Given the description of an element on the screen output the (x, y) to click on. 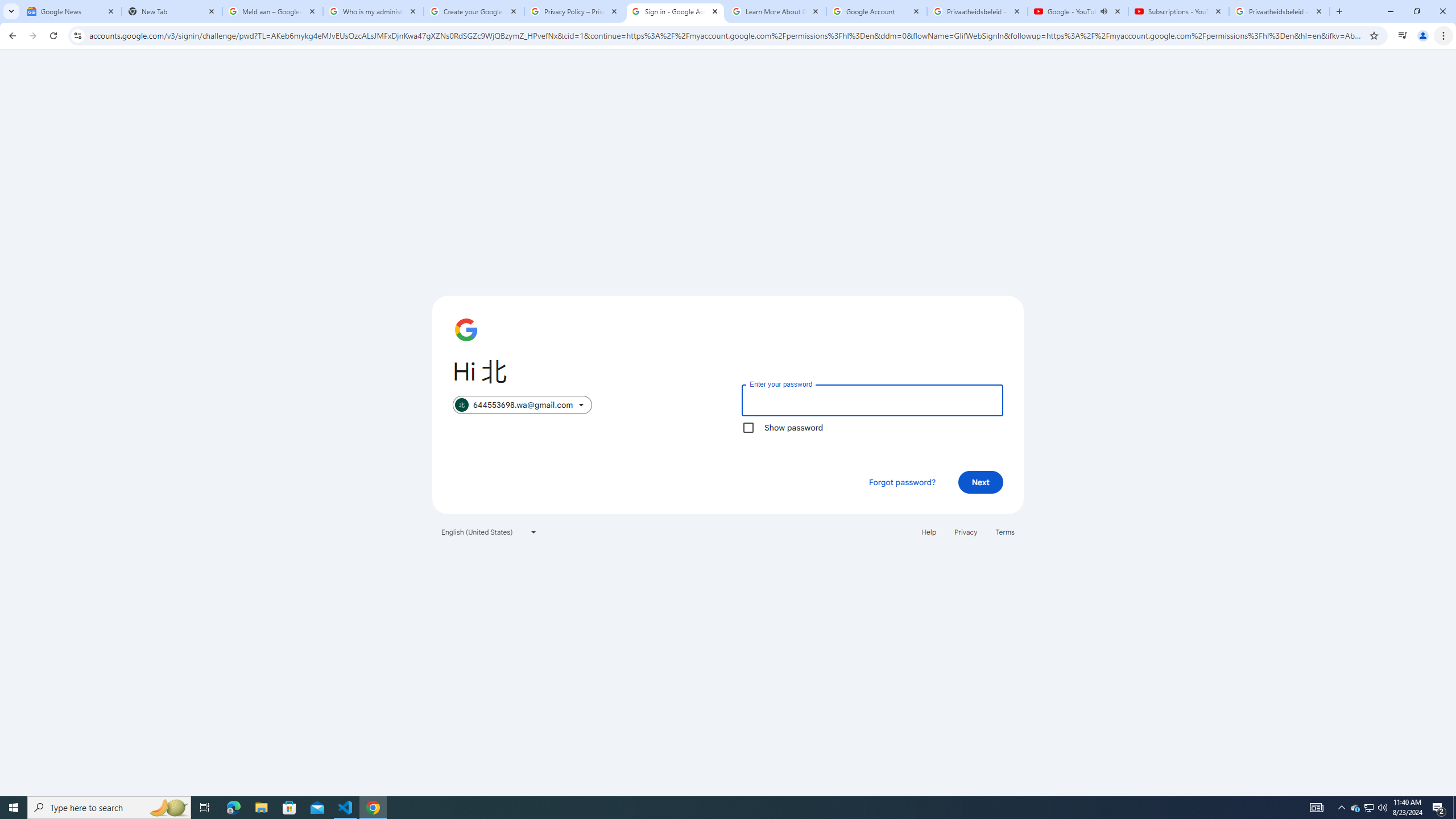
Google - YouTube - Audio playing (1078, 11)
Google News (71, 11)
Create your Google Account (474, 11)
Sign in - Google Accounts (675, 11)
English (United States) (489, 531)
New Tab (171, 11)
